Given the description of an element on the screen output the (x, y) to click on. 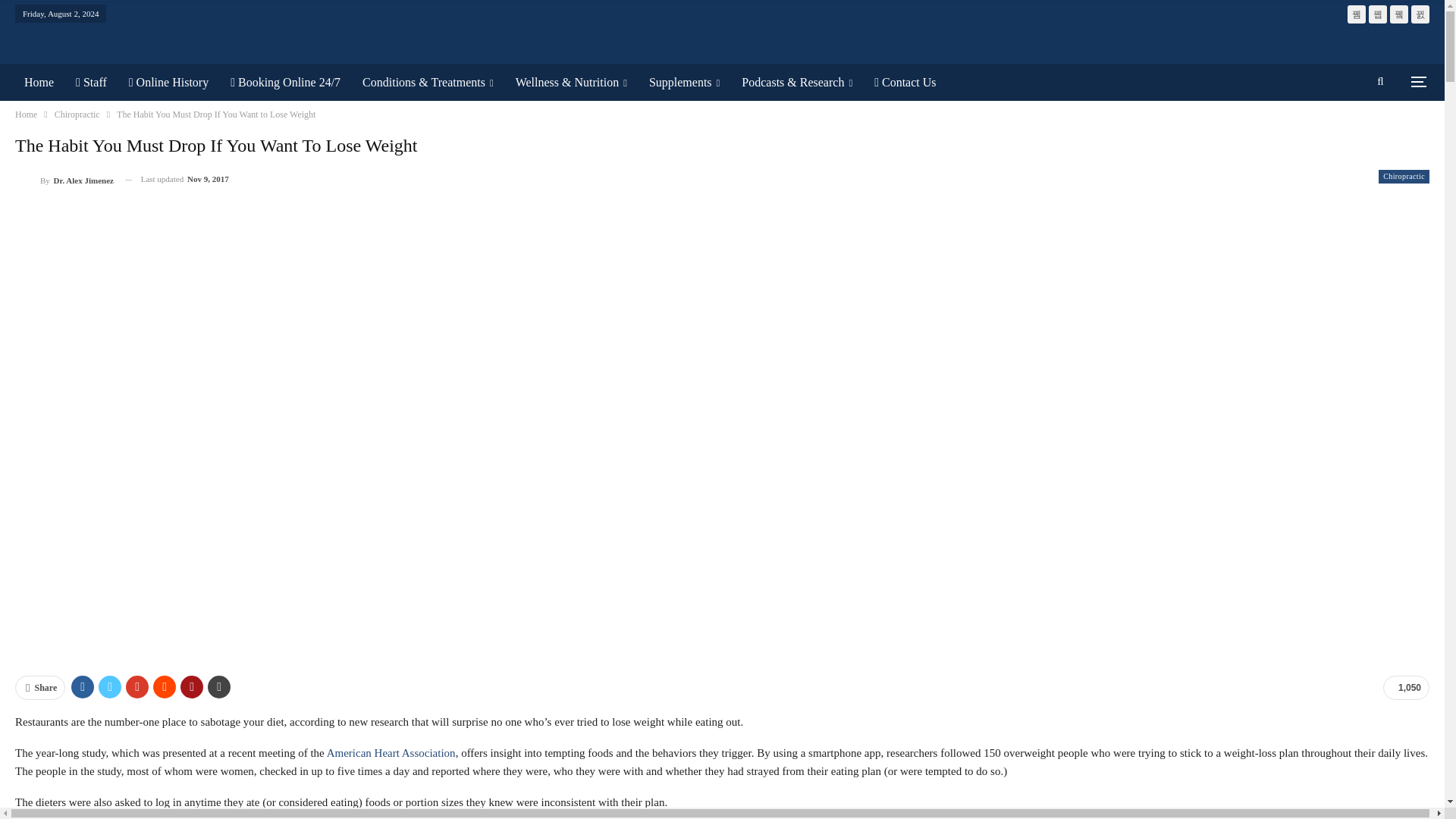
Home (38, 82)
Browse Author Articles (63, 178)
